Given the description of an element on the screen output the (x, y) to click on. 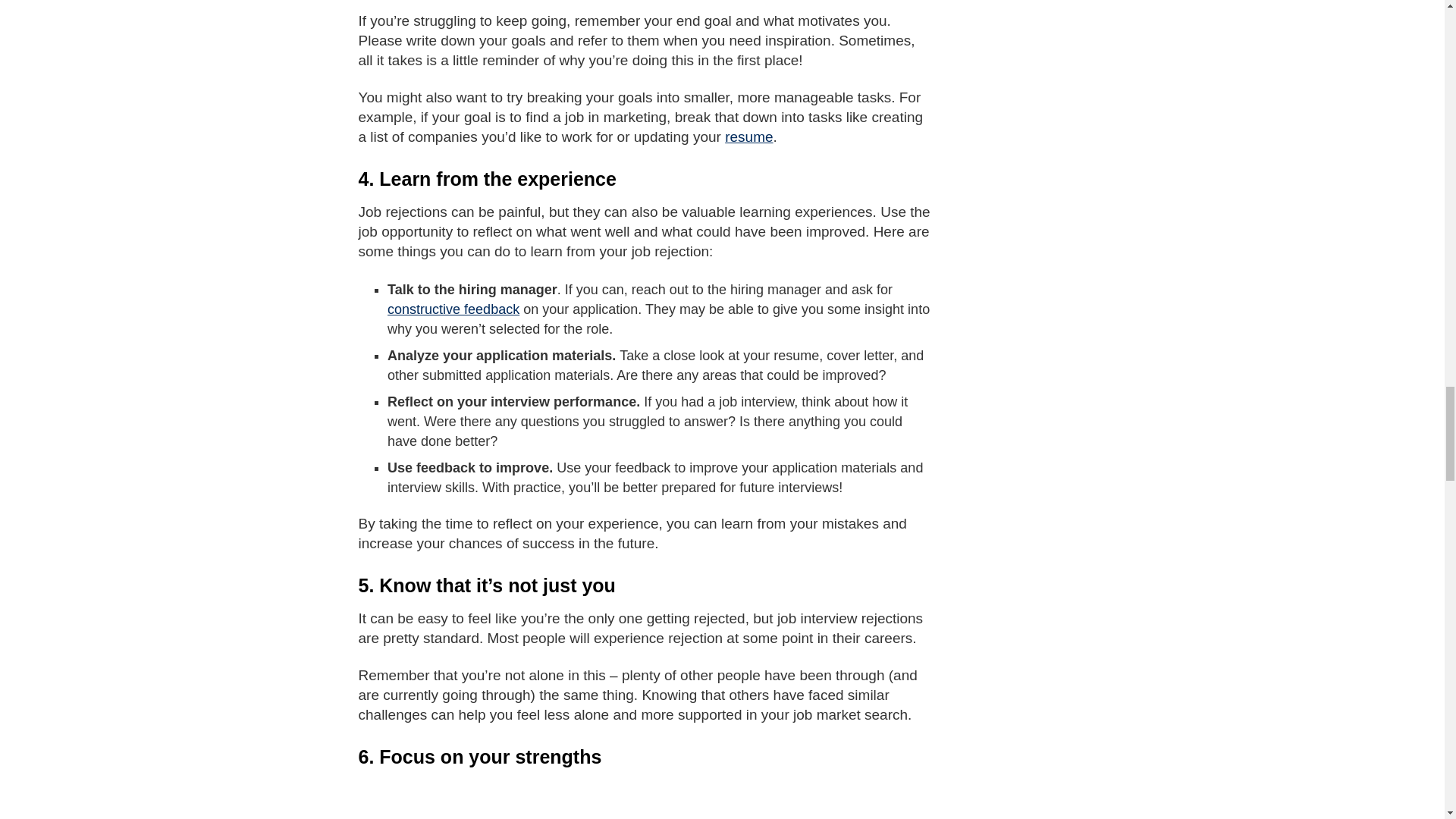
How To Deal with Rejection from a Job Like a Pro 3 (645, 799)
resume (749, 136)
constructive feedback (453, 309)
